Given the description of an element on the screen output the (x, y) to click on. 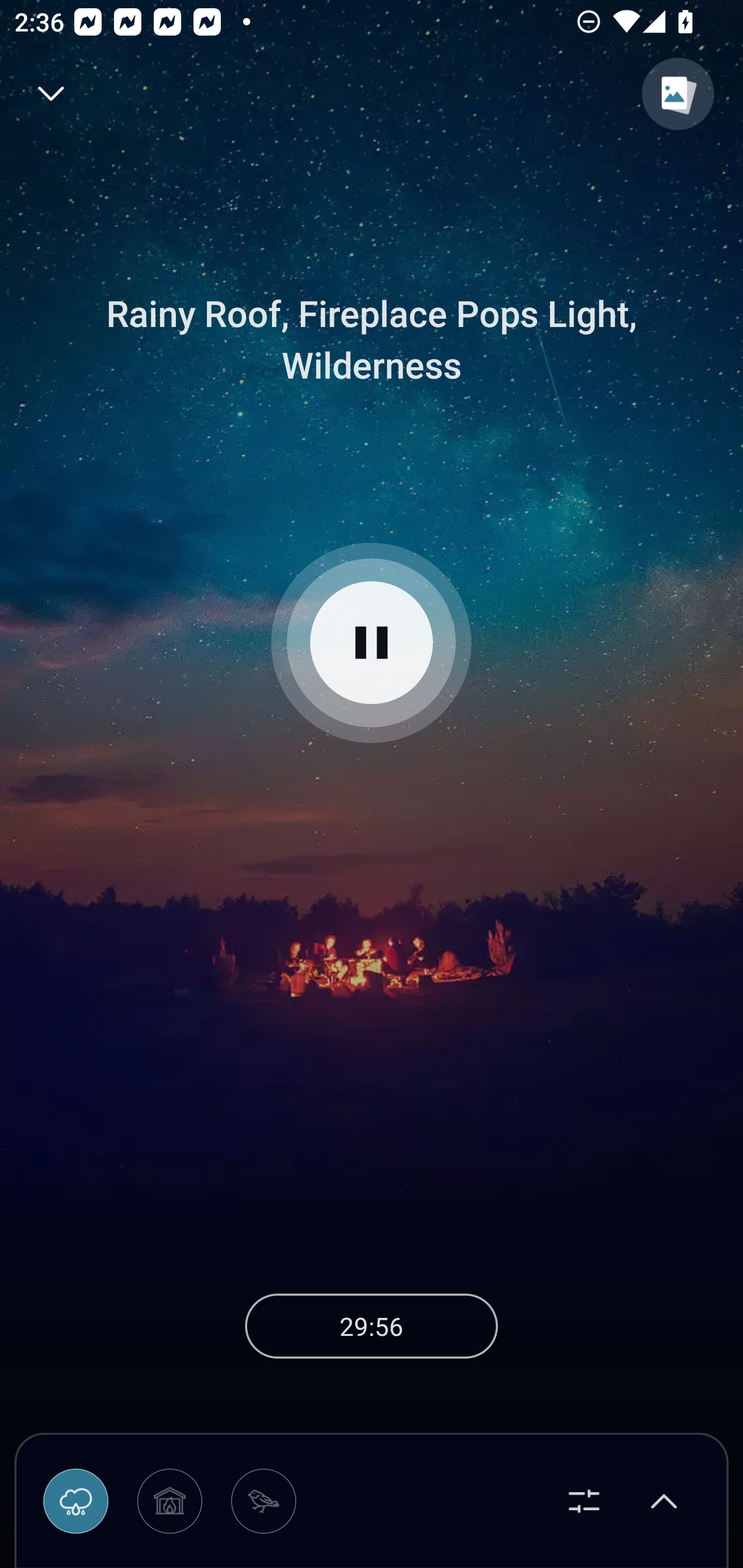
29:56 (371, 1325)
